Given the description of an element on the screen output the (x, y) to click on. 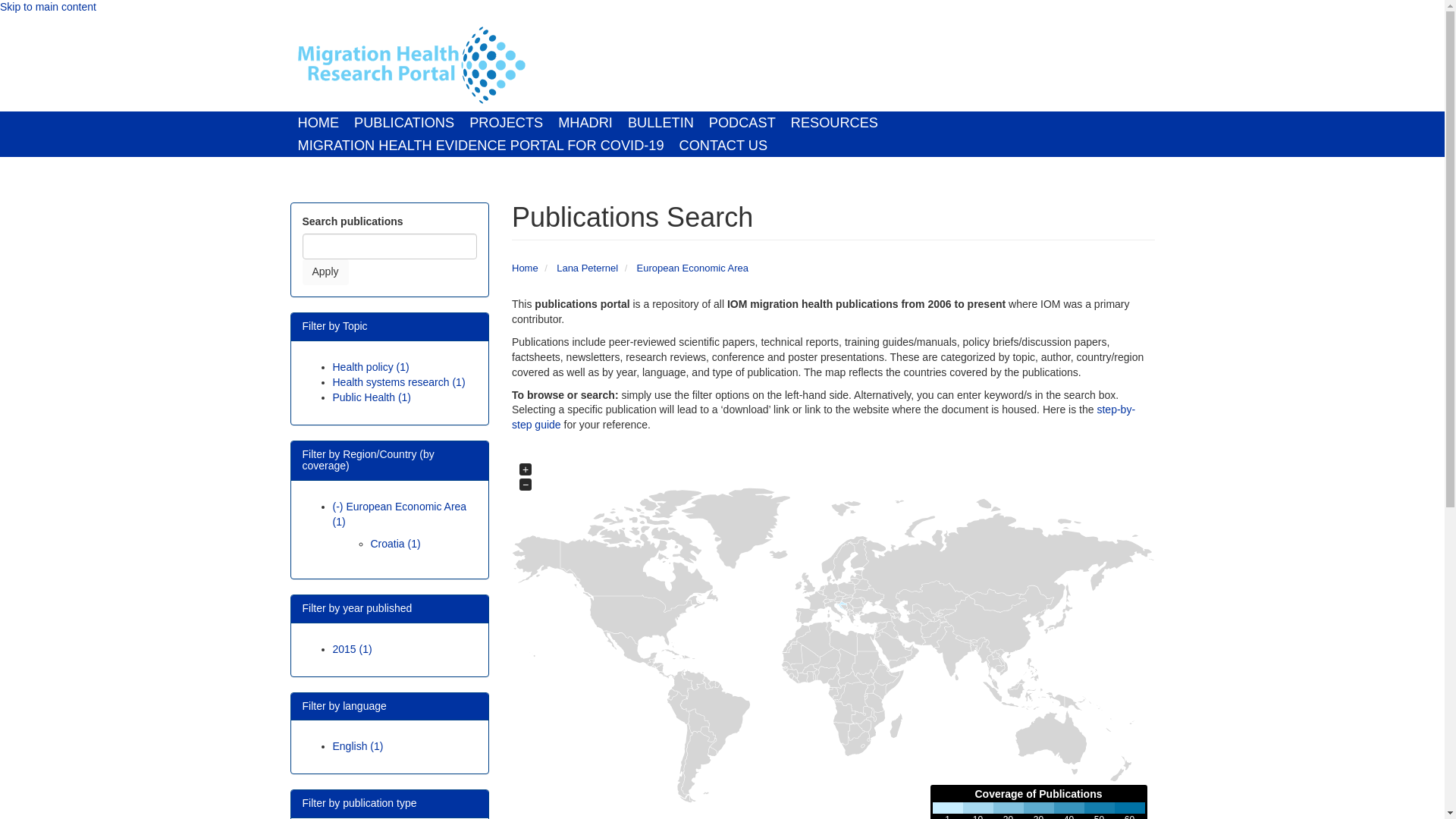
step-by-step guide (823, 416)
BULLETIN (660, 122)
Apply (324, 272)
CONTACT US (723, 145)
HOME (317, 122)
PODCAST (742, 122)
European Economic Area (692, 267)
PROJECTS (505, 122)
Home (410, 65)
Skip to main content (48, 6)
PUBLICATIONS (403, 122)
Home (525, 267)
MHADRI (585, 122)
Lana Peternel (586, 267)
MIGRATION HEALTH EVIDENCE PORTAL FOR COVID-19 (480, 145)
